Given the description of an element on the screen output the (x, y) to click on. 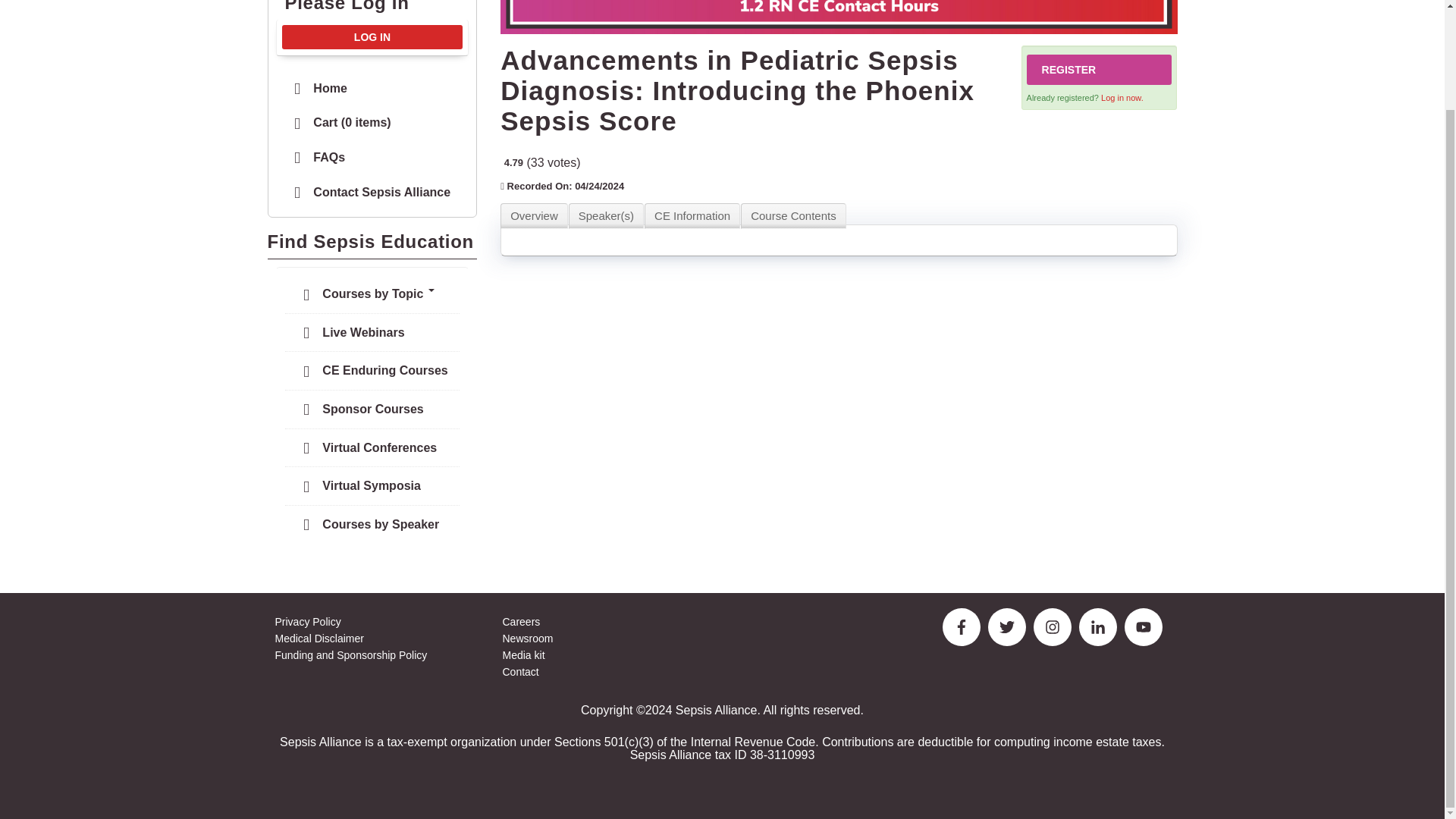
CE Information (692, 216)
FAQs (372, 157)
LOG IN (372, 37)
Courses by Topic (372, 294)
Log in now. (1121, 97)
Contact Sepsis Alliance (372, 192)
Course Contents (793, 216)
Home (372, 88)
Overview (533, 216)
REGISTER (1099, 69)
